Given the description of an element on the screen output the (x, y) to click on. 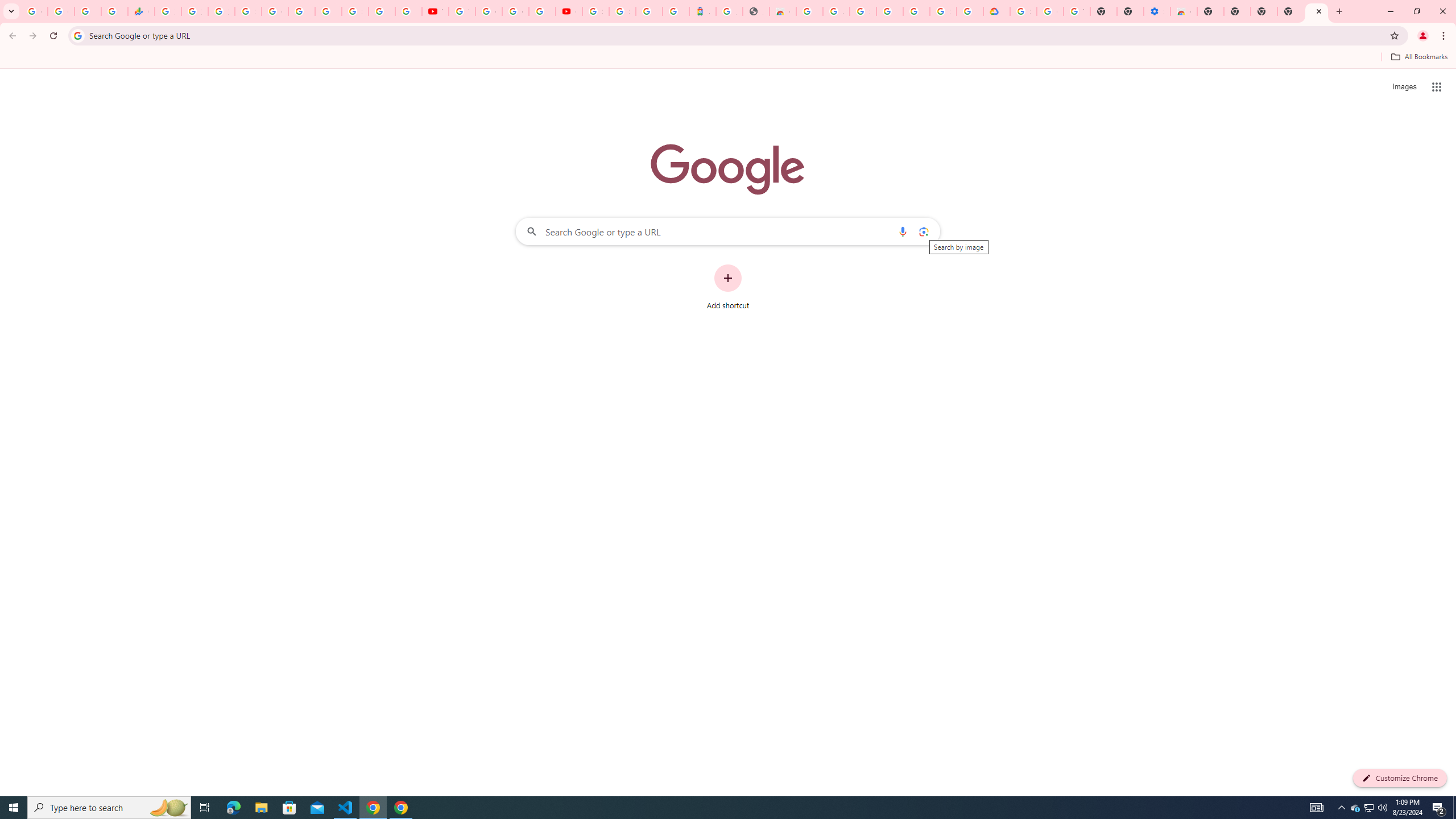
Chrome Web Store - Household (782, 11)
Sign in - Google Accounts (595, 11)
Sign in - Google Accounts (943, 11)
Atour Hotel - Google hotels (702, 11)
New Tab (1316, 11)
Ad Settings (836, 11)
Bookmarks (728, 58)
